Given the description of an element on the screen output the (x, y) to click on. 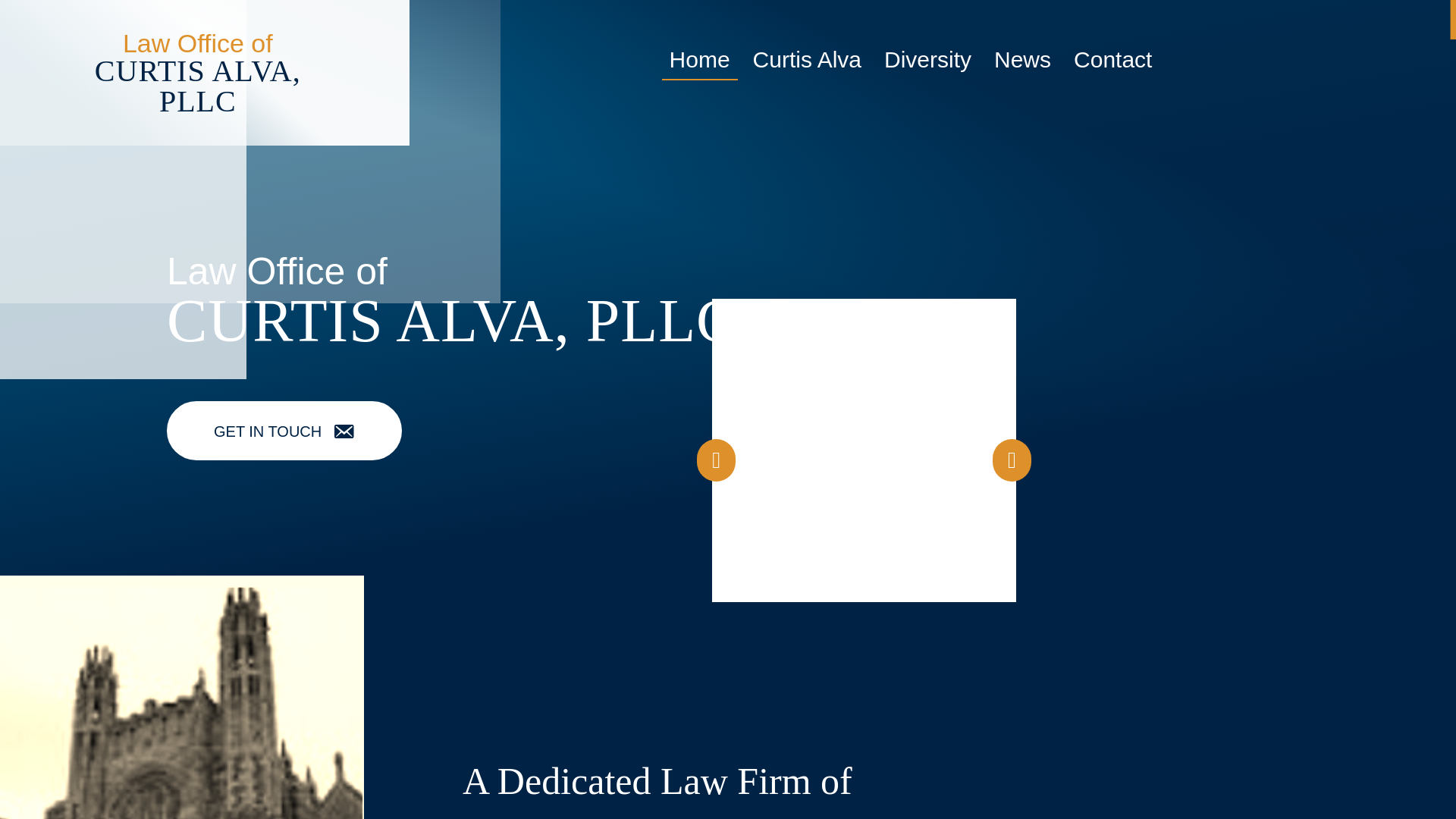
Diversity (927, 60)
News (1022, 60)
Contact (1111, 60)
GET IN TOUCH (284, 430)
Home (700, 60)
Curtis Alva (807, 60)
